Given the description of an element on the screen output the (x, y) to click on. 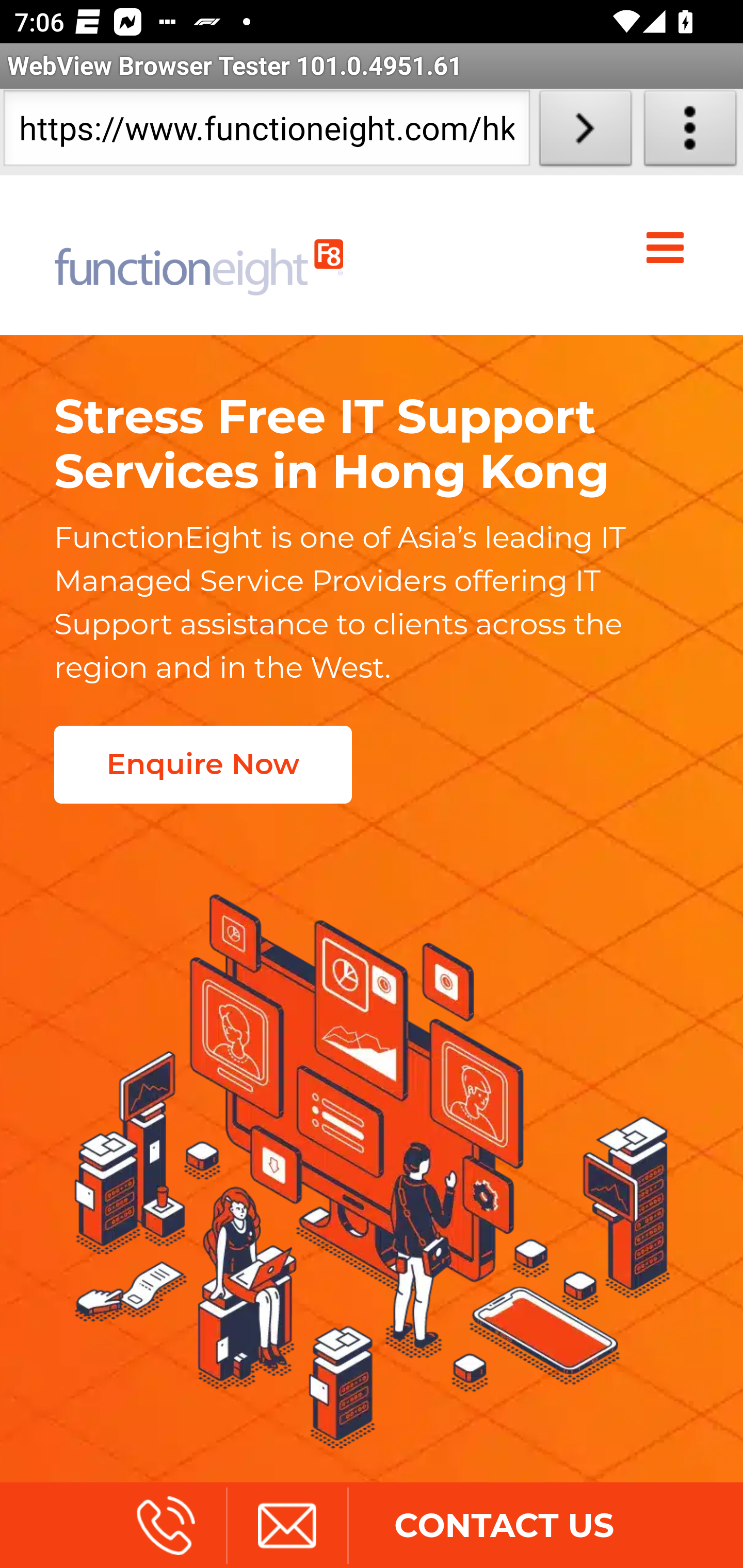
Load URL (585, 132)
About WebView (690, 132)
FunctionEight Hong Kong Logo (199, 254)
Toggle mobile menu  (668, 248)
Enquire Now (202, 764)
email (286, 1524)
CONTACT US (504, 1524)
